Given the description of an element on the screen output the (x, y) to click on. 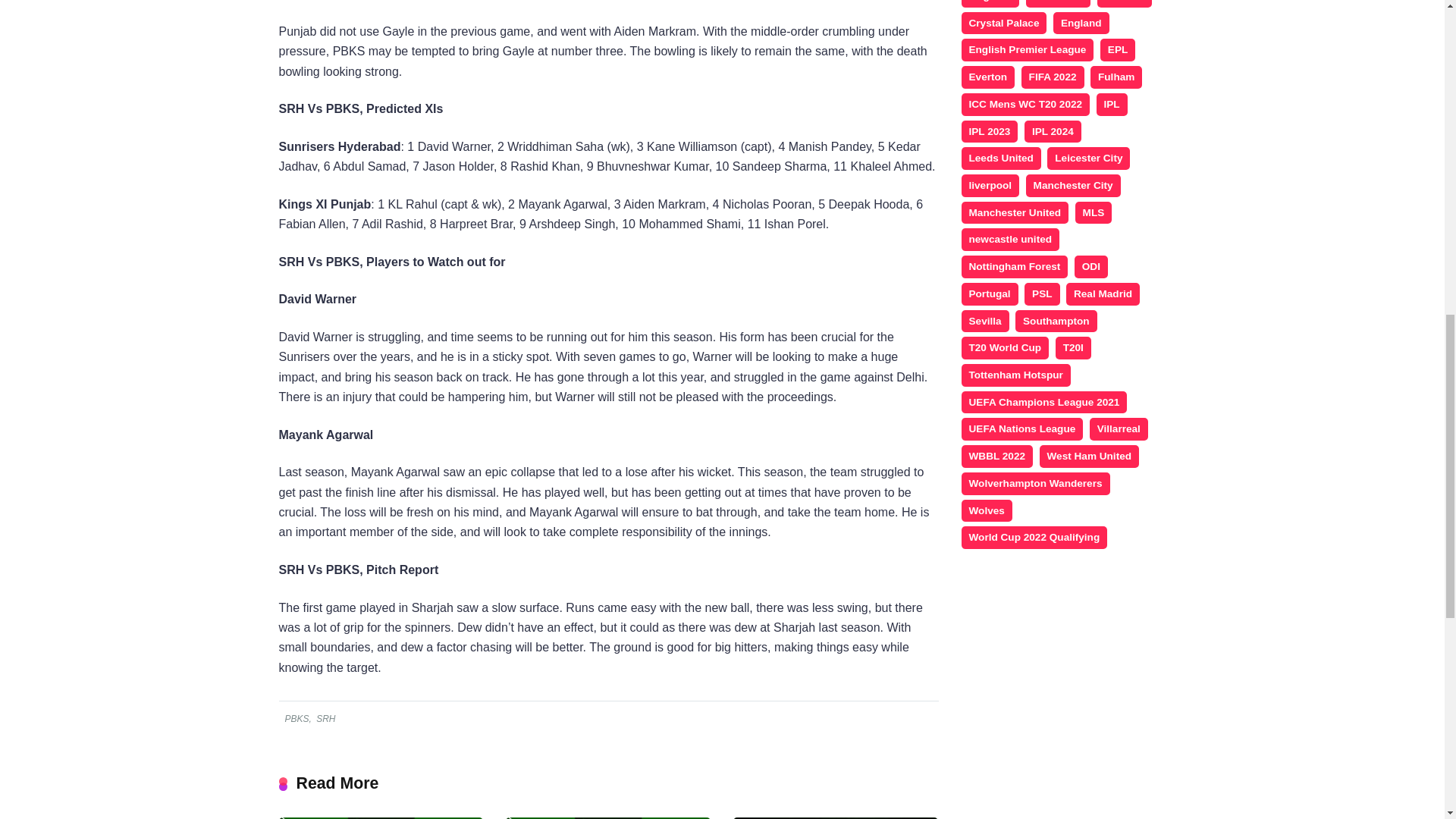
Crystal Palace (1003, 23)
Brighton (990, 3)
PBKS (295, 718)
Chelsea (1124, 3)
SRH (324, 718)
BURNLEY (1058, 3)
